Given the description of an element on the screen output the (x, y) to click on. 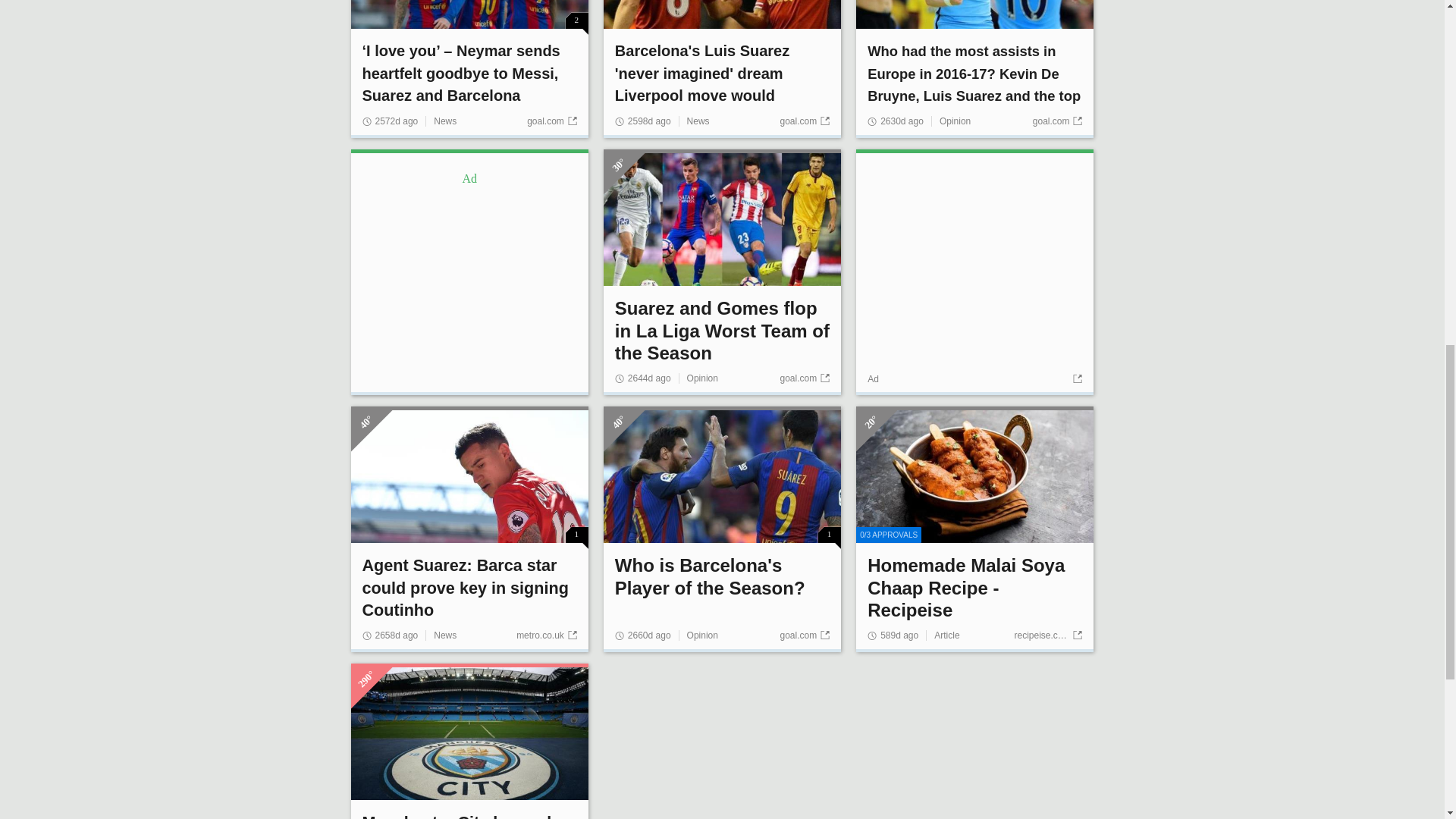
Go to source: goal.com (551, 121)
Go to source: goal.com (803, 634)
Go to source: goal.com (803, 121)
Go to source: goal.com (1057, 121)
Go to source: metro.co.uk (546, 634)
Go to source: goal.com (803, 378)
Go to source (1074, 378)
Go to source: recipeise.com (1047, 634)
